Given the description of an element on the screen output the (x, y) to click on. 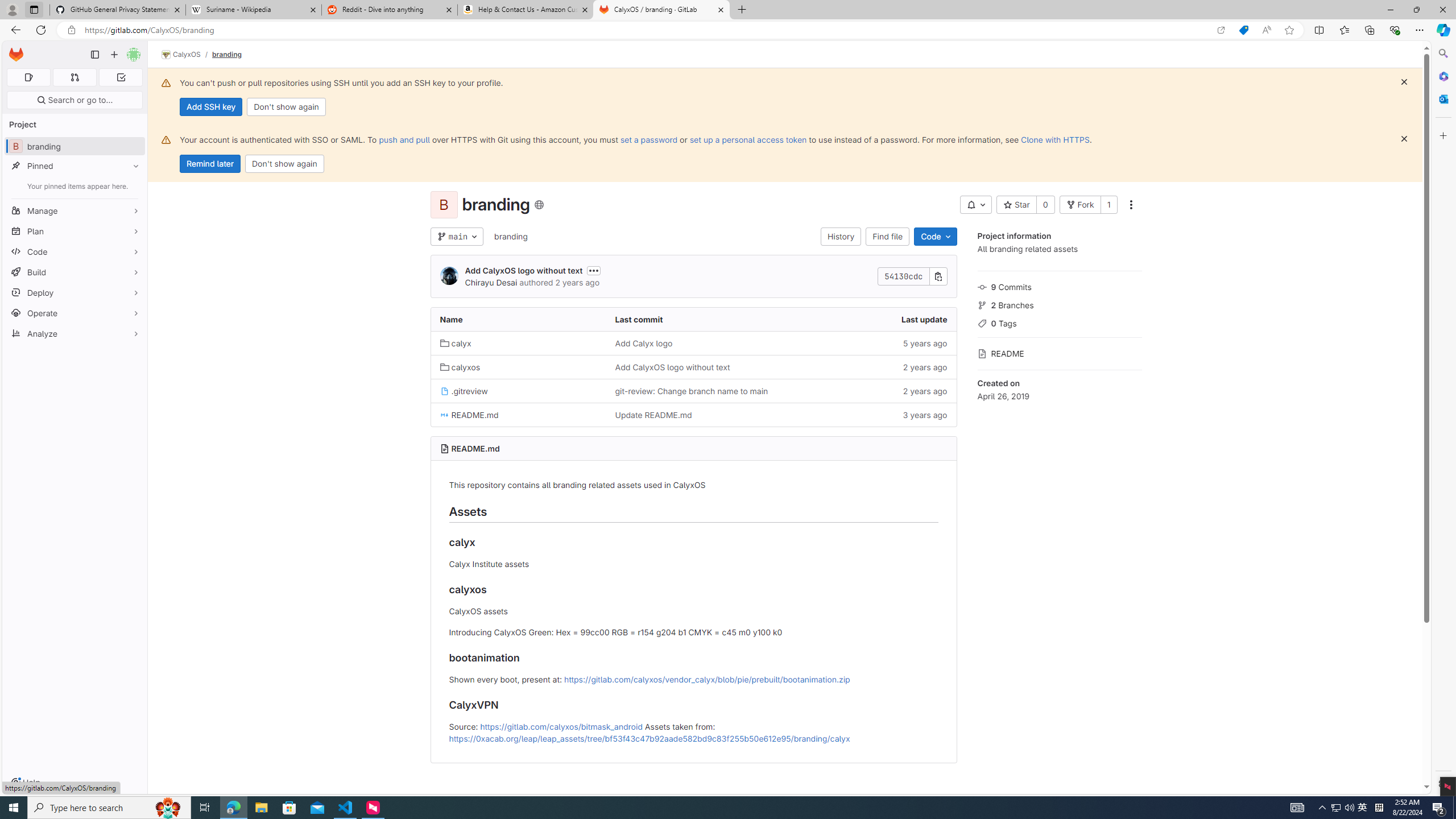
Chirayu Desai (490, 282)
Class: s16 icon gl-mr-3 gl-text-gray-500 (981, 353)
CalyxOS/ (186, 54)
0 (1045, 204)
Dismiss (1403, 138)
Toggle commit description (593, 270)
2 Branches (1058, 304)
https://gitlab.com/calyxos/bitmask_android (561, 726)
5 years ago (868, 342)
Name (517, 319)
Build (74, 271)
Add CalyxOS logo without text (672, 367)
History (840, 236)
